Given the description of an element on the screen output the (x, y) to click on. 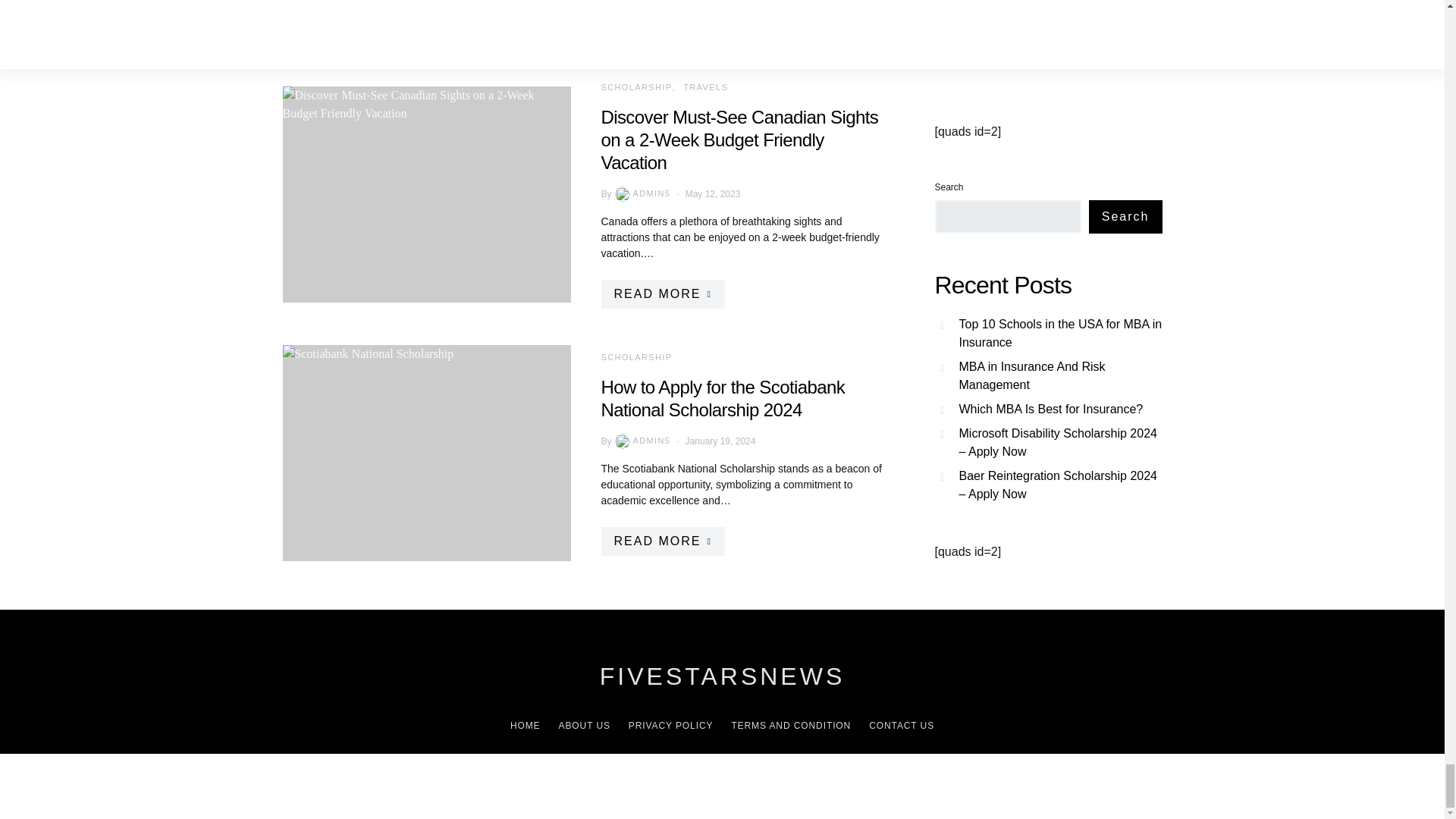
View all posts by Admin5 (641, 441)
View all posts by Admin5 (641, 193)
